Given the description of an element on the screen output the (x, y) to click on. 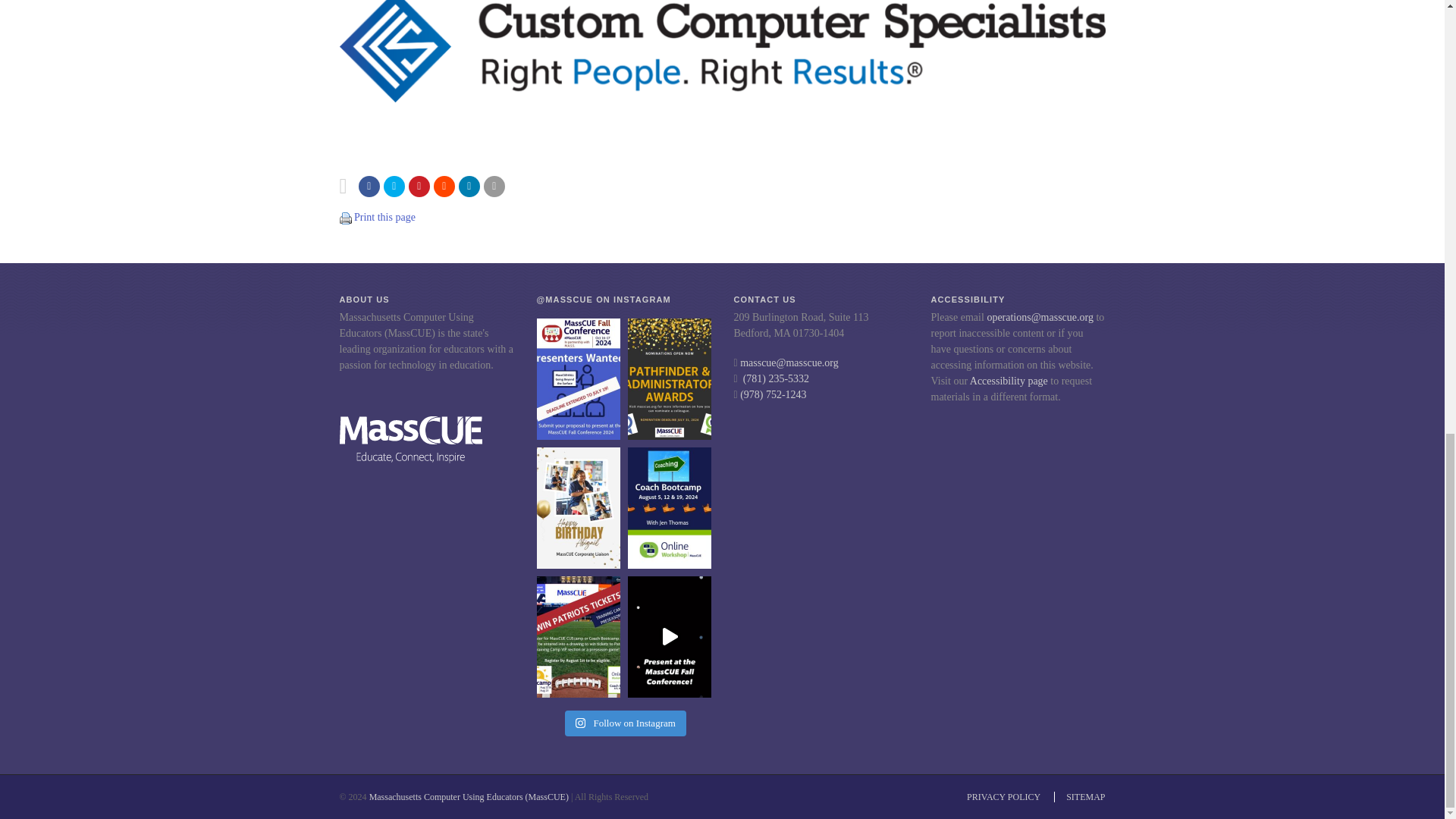
Share on Facebook (369, 186)
Print this page (383, 216)
Tweet (394, 186)
Print this page (345, 218)
Print this page (345, 216)
Submit to Reddit (443, 186)
Email (494, 186)
Share on Linkedin (469, 186)
Pin it (419, 186)
